Given the description of an element on the screen output the (x, y) to click on. 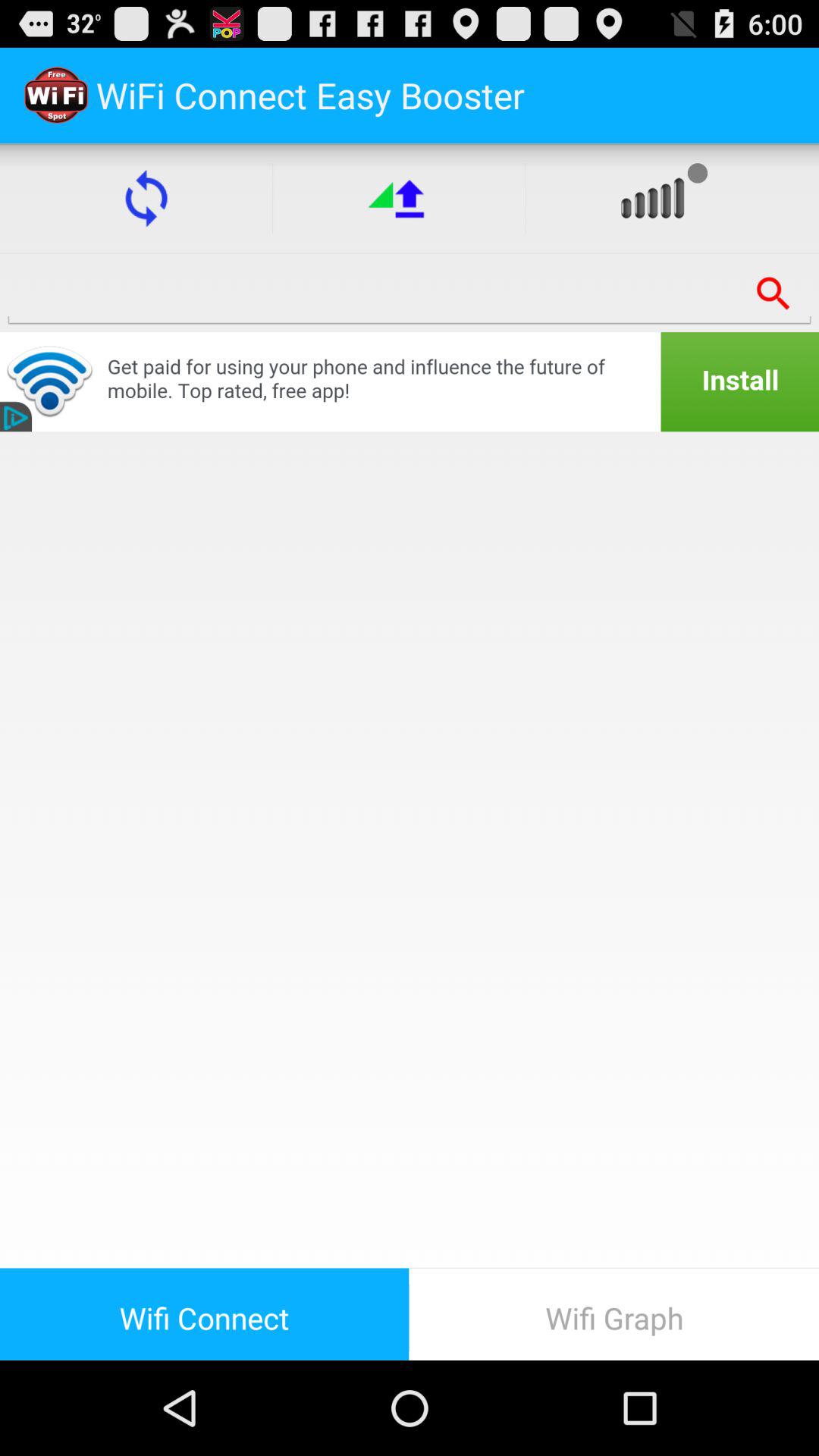
select item at the center (409, 849)
